Given the description of an element on the screen output the (x, y) to click on. 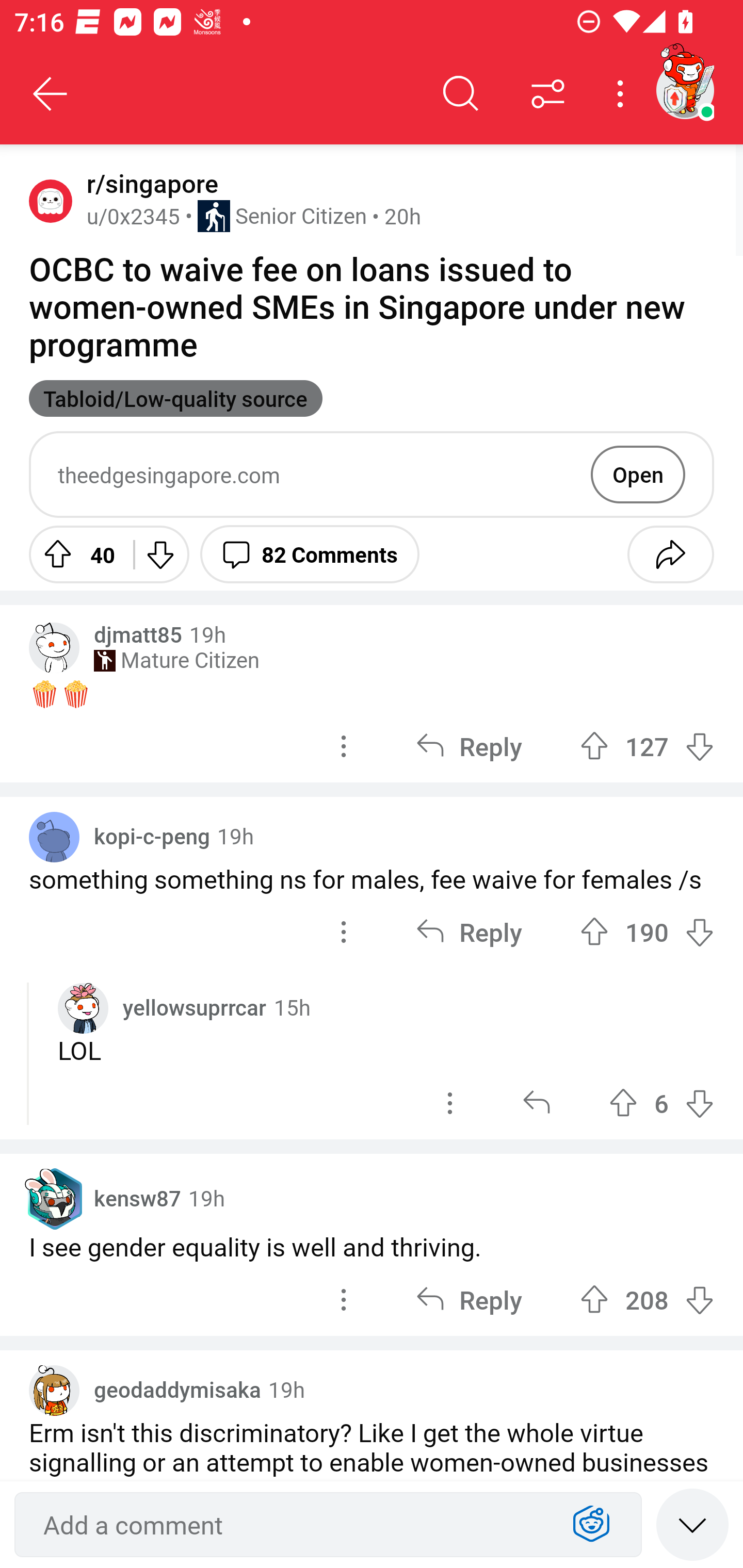
Back (50, 93)
TestAppium002 account (685, 90)
Search comments (460, 93)
Sort comments (547, 93)
More options (623, 93)
r/singapore (148, 183)
Avatar (50, 200)
Tabloid/Low-quality source (175, 398)
theedgesingapore.com Open (371, 474)
Open (637, 474)
Upvote 40 (73, 554)
Downvote (158, 554)
82 Comments (309, 554)
Share (670, 554)
Custom avatar (53, 647)
￼ Mature Citizen (176, 659)
🍿🍿 (371, 692)
options (343, 746)
Reply (469, 746)
Upvote 127 127 votes Downvote (647, 746)
Avatar (53, 837)
options (343, 931)
Reply (469, 931)
Upvote 190 190 votes Downvote (647, 931)
Custom avatar (82, 1008)
LOL (385, 1050)
options (449, 1103)
Upvote 6 6 votes Downvote (661, 1103)
I see gender equality is well and thriving. (371, 1246)
options (343, 1299)
Reply (469, 1299)
Upvote 208 208 votes Downvote (647, 1299)
Custom avatar (53, 1390)
Speed read (692, 1524)
Add a comment (291, 1524)
Show Expressions (590, 1524)
